Given the description of an element on the screen output the (x, y) to click on. 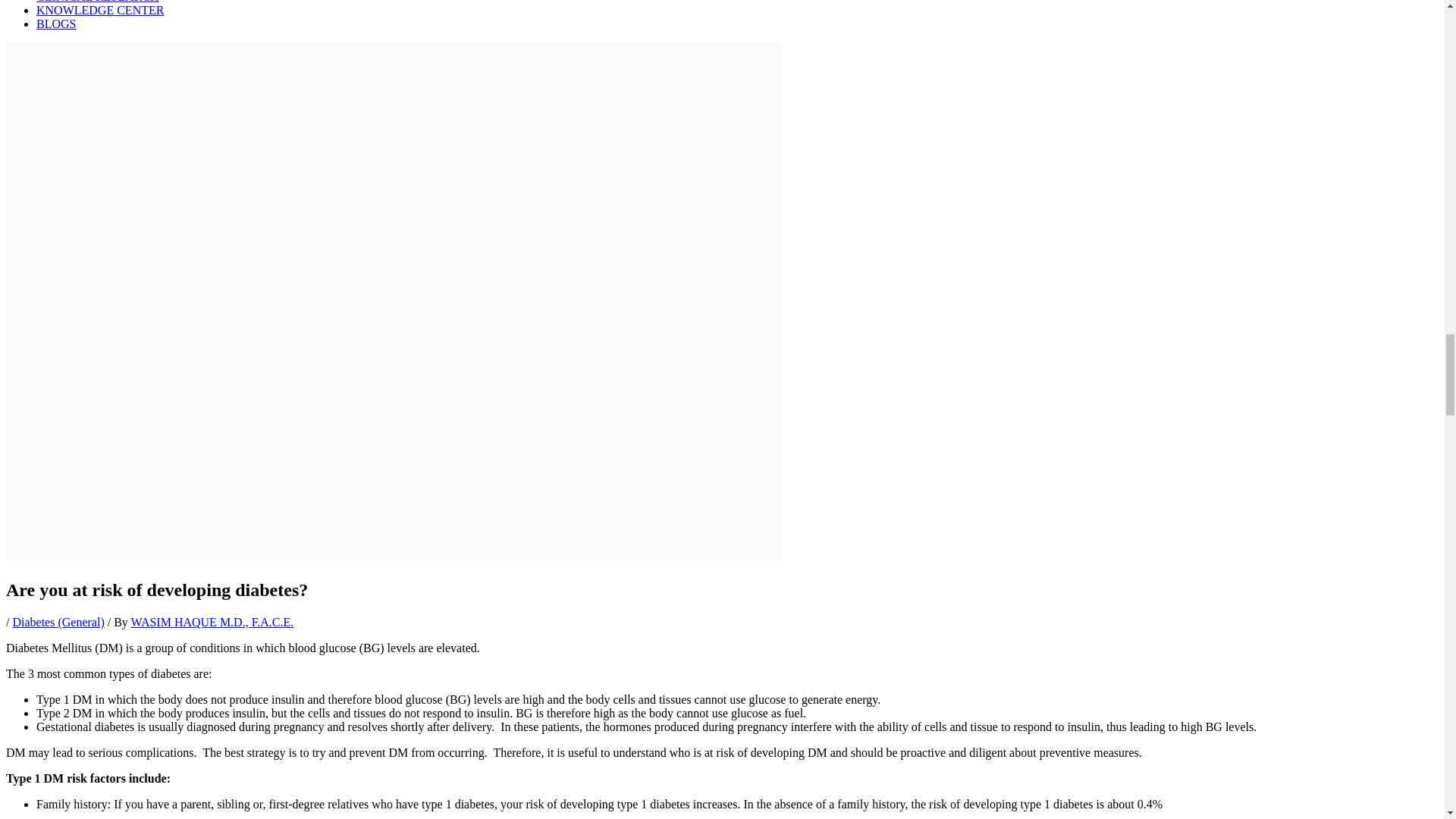
WASIM HAQUE M.D., F.A.C.E. (212, 621)
BLOGS (55, 23)
CLINICAL RESEARCH (97, 1)
View all posts by WASIM HAQUE M.D., F.A.C.E. (212, 621)
KNOWLEDGE CENTER (99, 10)
